Given the description of an element on the screen output the (x, y) to click on. 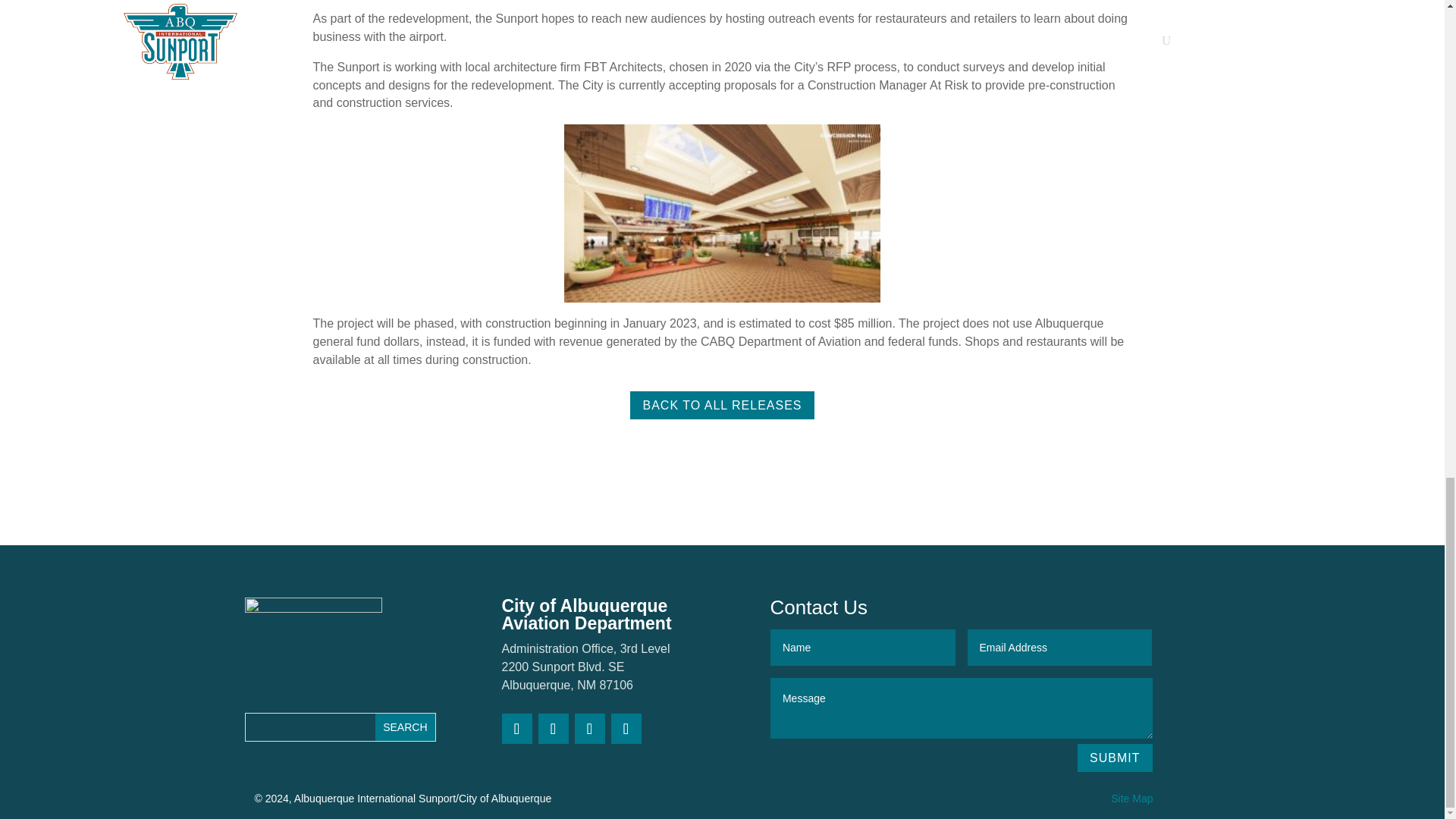
ABQ-Sunport-Mini-120h-150dpi-Logo-White (312, 642)
BACK TO ALL RELEASES (721, 405)
Follow on Facebook (553, 728)
Follow on X (517, 728)
Follow on Instagram (590, 728)
Follow on Youtube (626, 728)
Search (404, 727)
Search (404, 727)
Search (404, 727)
